Given the description of an element on the screen output the (x, y) to click on. 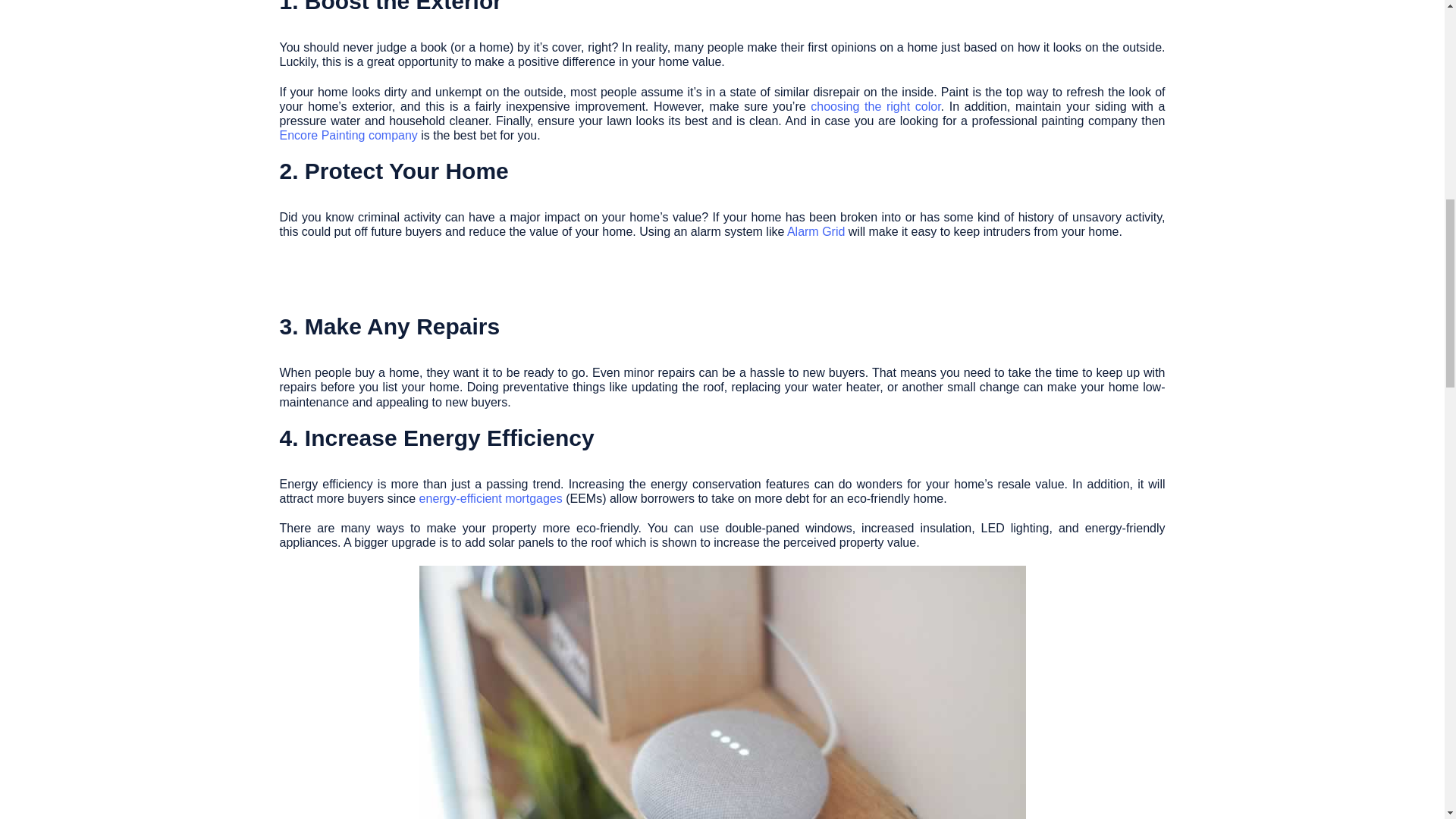
choosing the right color (875, 106)
energy-efficient mortgages (490, 498)
Alarm Grid (815, 231)
Encore Painting company (347, 134)
